Given the description of an element on the screen output the (x, y) to click on. 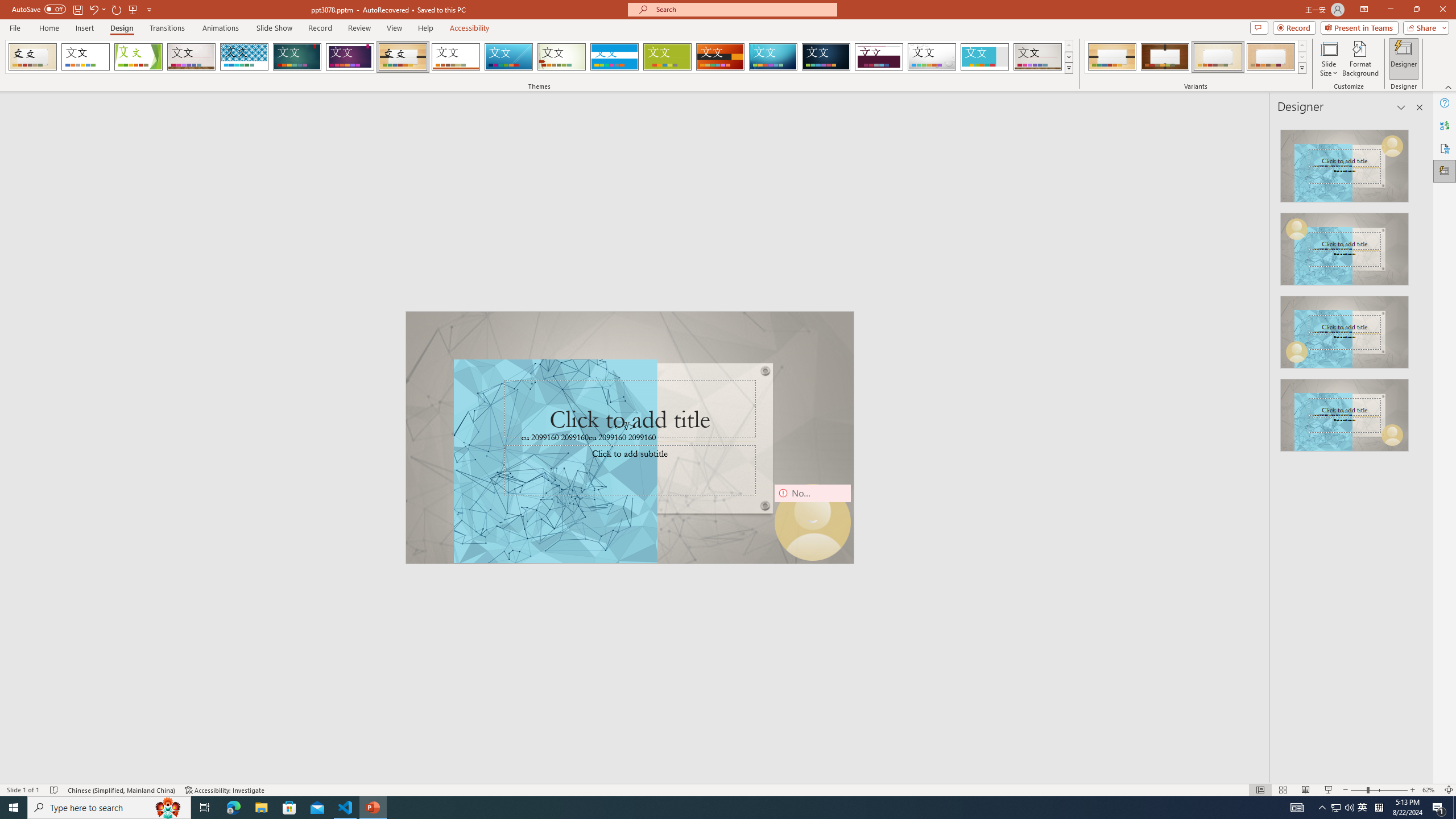
Variants (1301, 67)
TextBox 61 (628, 438)
Zoom 62% (1430, 790)
Slide Size (1328, 58)
Ion Boardroom (350, 56)
